Given the description of an element on the screen output the (x, y) to click on. 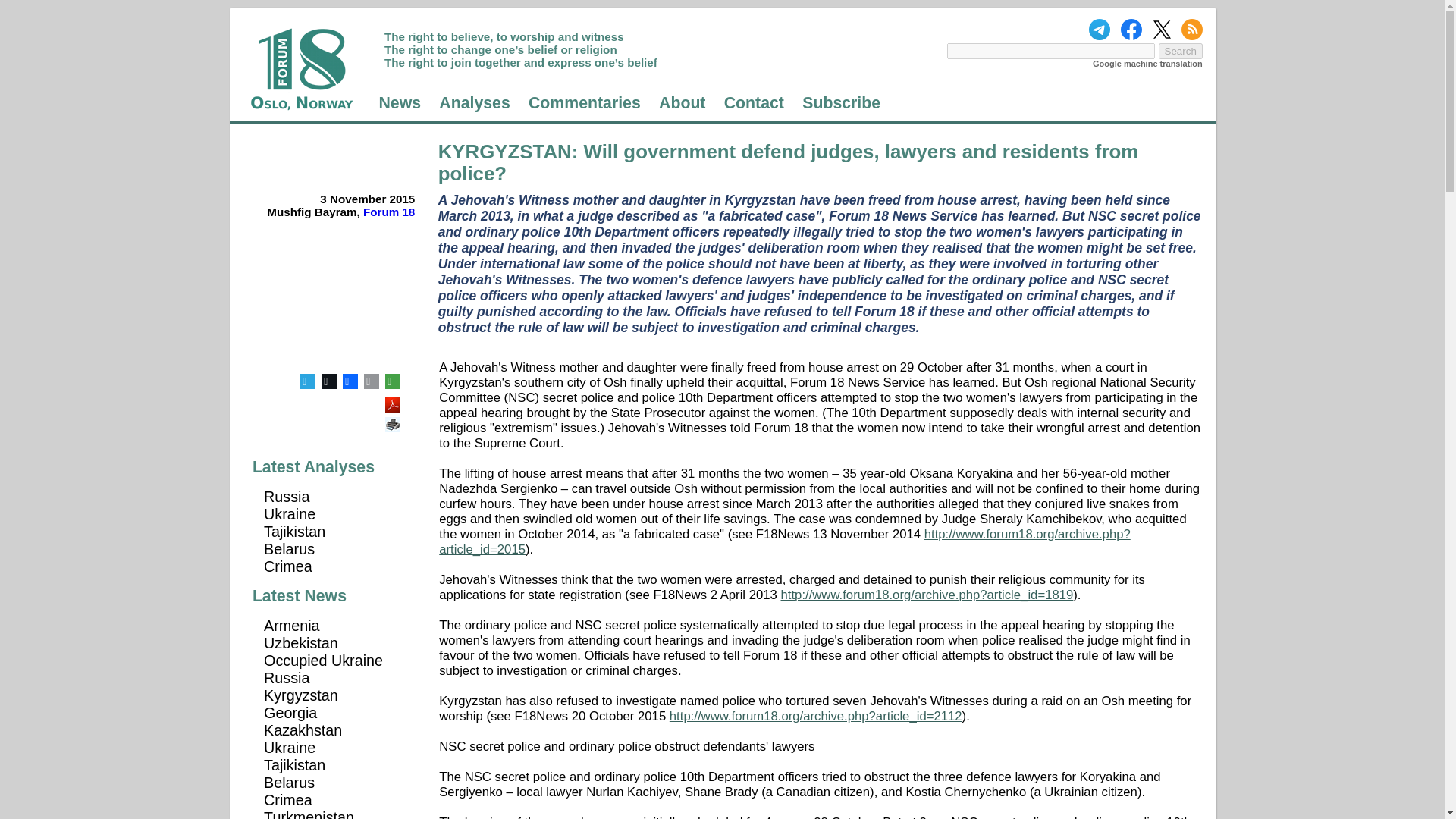
Contact (753, 103)
Telegram (307, 381)
Forum 18 (388, 211)
Print (394, 418)
Belarus (288, 548)
Crimea (288, 565)
Analyses (474, 103)
News (399, 103)
Commentaries (584, 103)
About (681, 103)
Russia (285, 496)
Uzbekistan (300, 642)
Subscribe (841, 103)
Ukraine (289, 514)
Email This (371, 381)
